Given the description of an element on the screen output the (x, y) to click on. 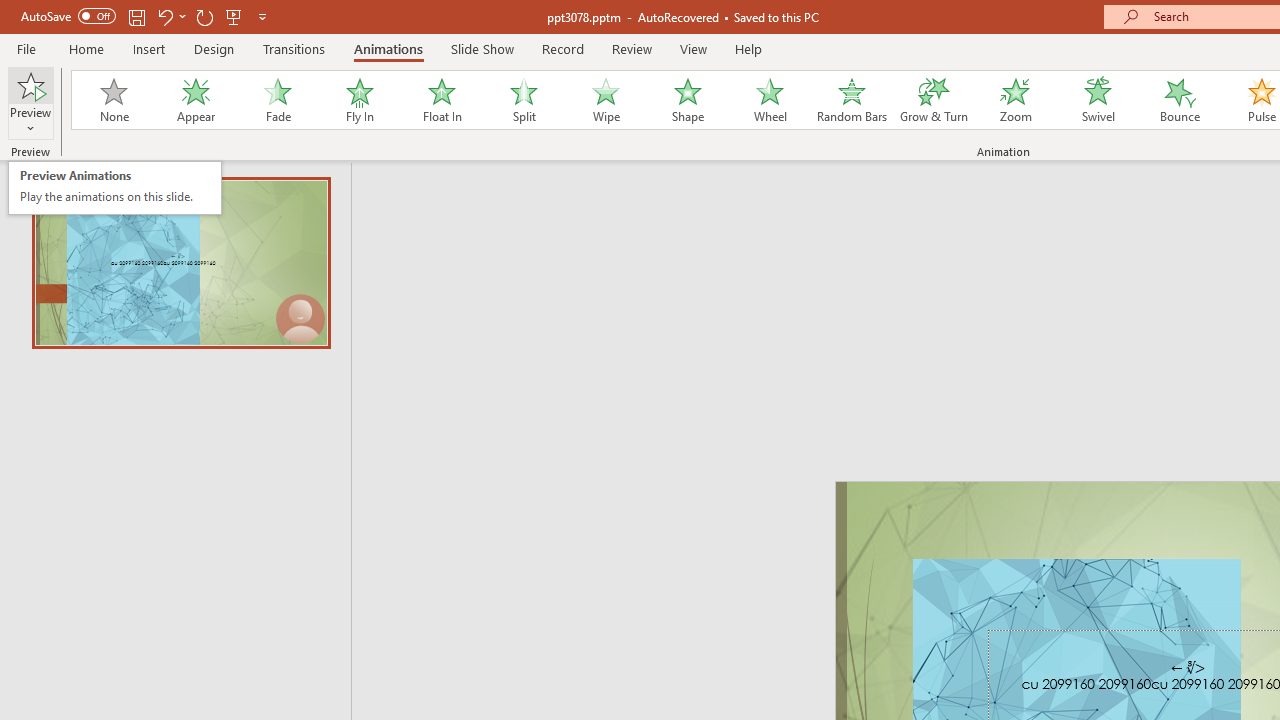
TextBox 7 (1188, 668)
Bounce (1180, 100)
Fly In (359, 100)
Split (523, 100)
Float In (441, 100)
